Given the description of an element on the screen output the (x, y) to click on. 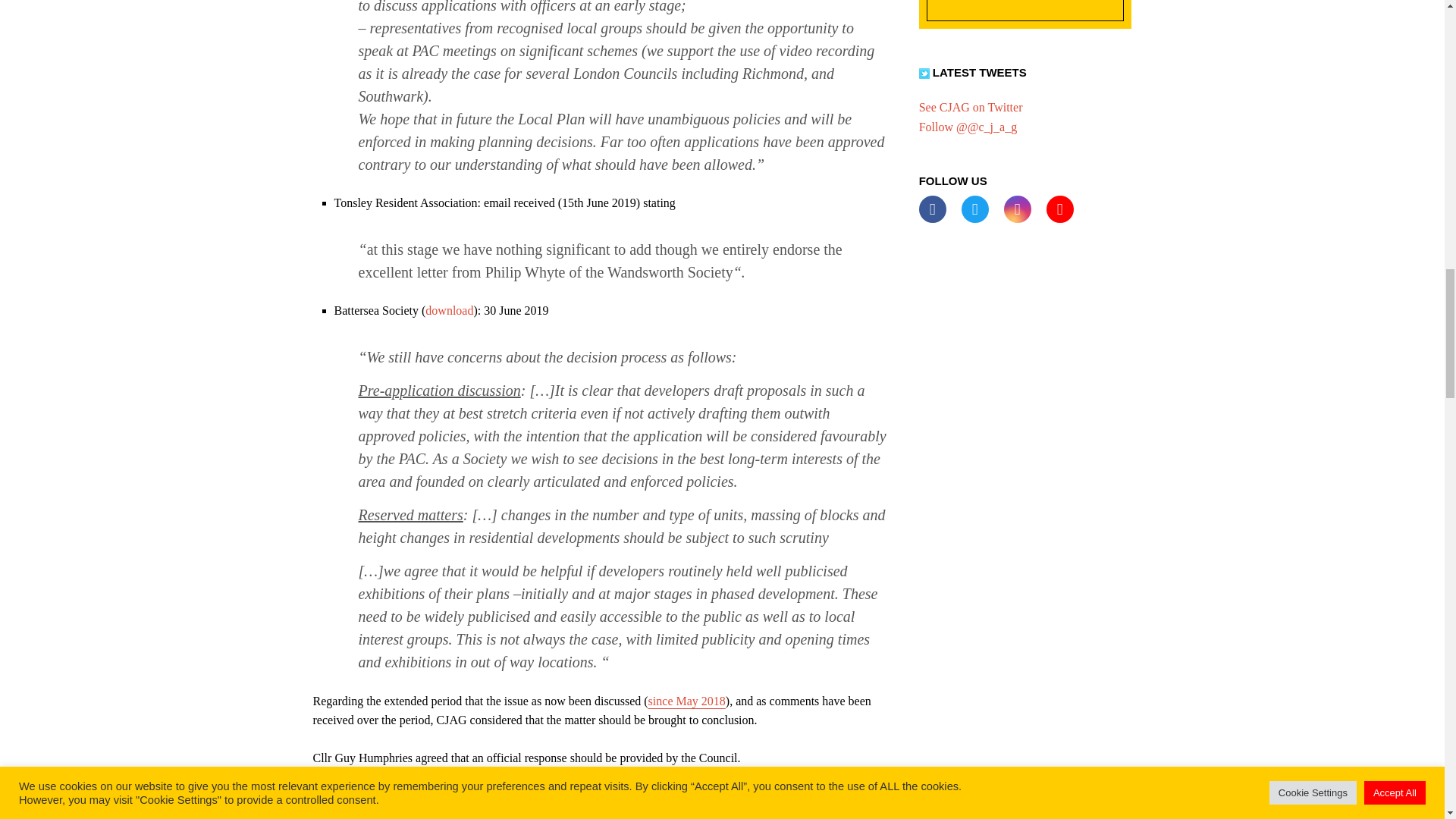
Latest Tweets (924, 72)
